Given the description of an element on the screen output the (x, y) to click on. 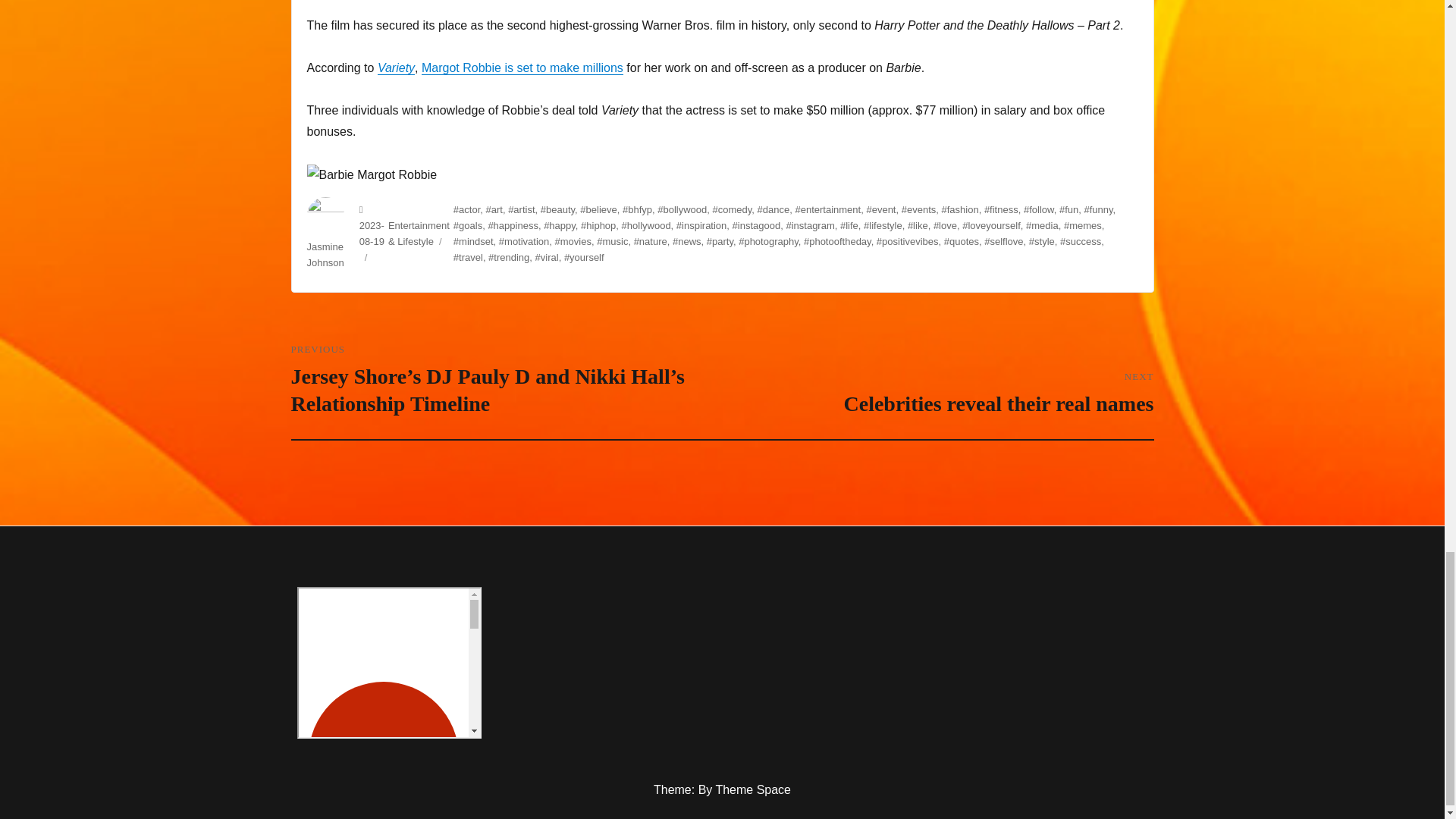
2023-08-19 (371, 233)
Jasmine Johnson (324, 254)
amazing (389, 662)
Margot Robbie is set to make millions (522, 67)
Variety (395, 67)
